Given the description of an element on the screen output the (x, y) to click on. 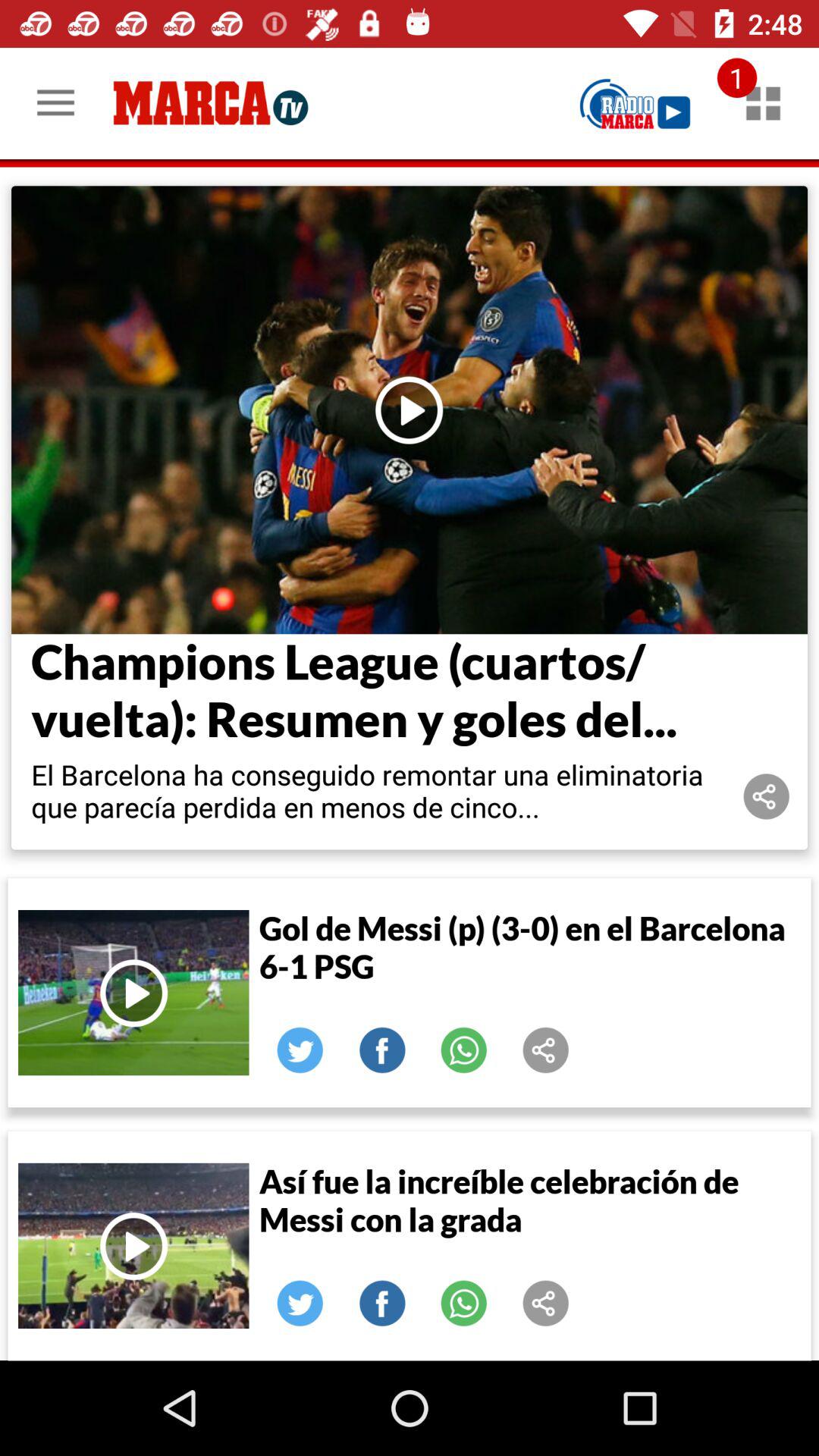
it a facebook button that allows you to share the video with your friends (382, 1050)
